Given the description of an element on the screen output the (x, y) to click on. 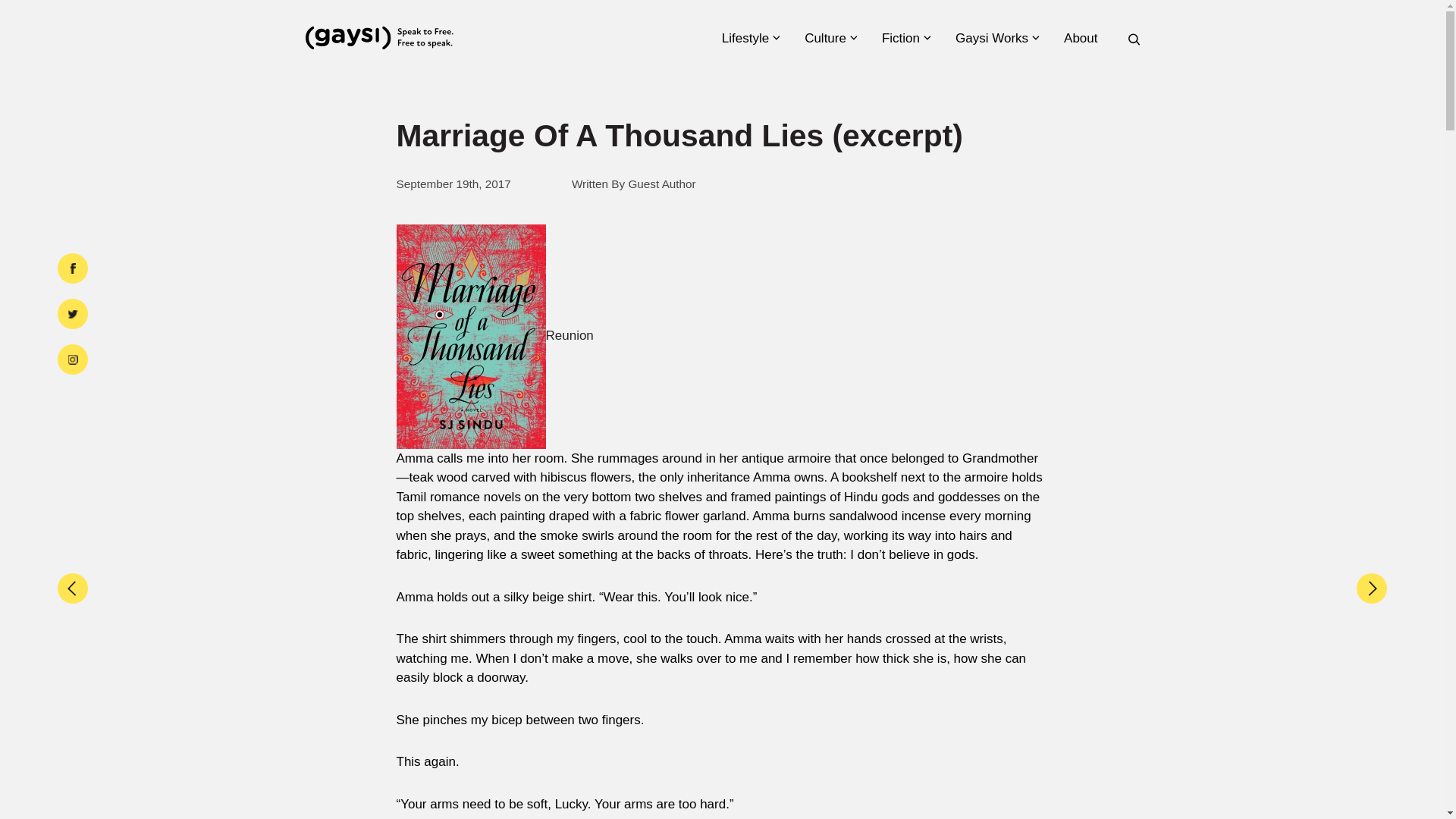
Gaysi Works (996, 38)
Click to share this post on Twitter (72, 313)
Fiction (905, 38)
About (1085, 38)
Search (1122, 414)
Lifestyle (750, 38)
Culture (830, 38)
